Given the description of an element on the screen output the (x, y) to click on. 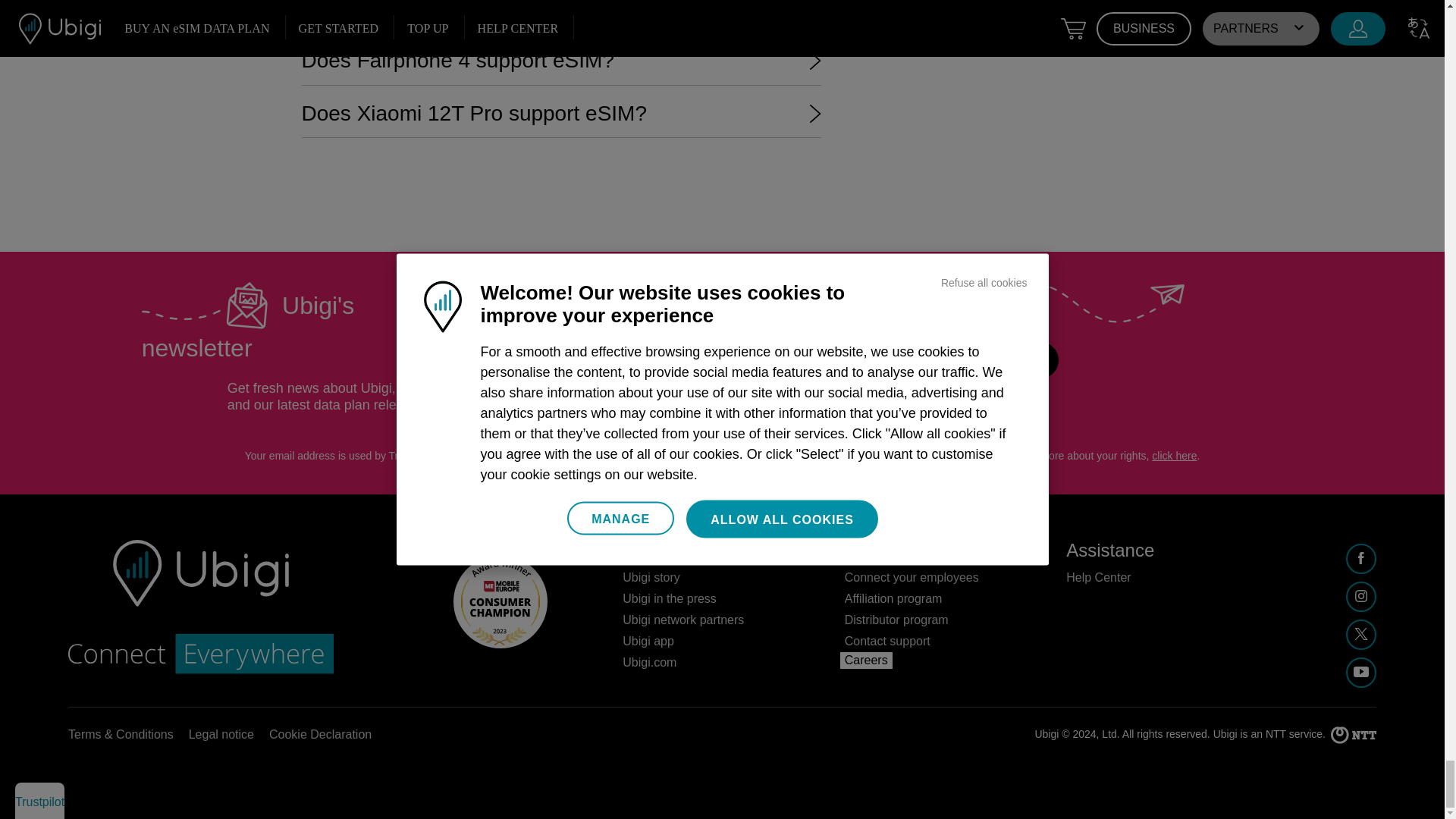
1 (596, 356)
Subscribe (998, 360)
